Given the description of an element on the screen output the (x, y) to click on. 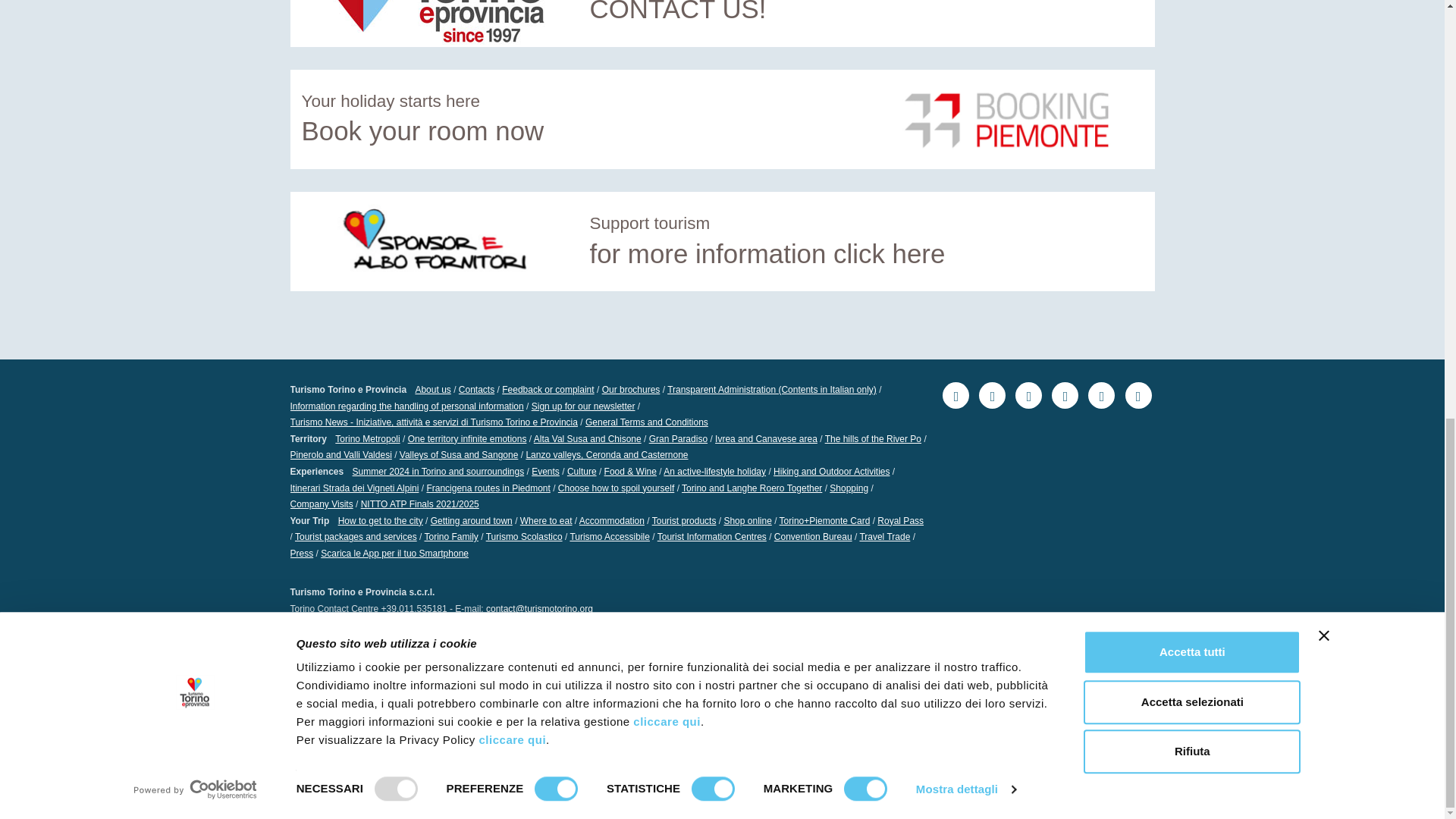
Credits Foto  (880, 673)
Incoming Partners List (330, 648)
Cookie Policy (558, 673)
Declaration of accessibility (757, 673)
Convention Bureau (812, 536)
